Given the description of an element on the screen output the (x, y) to click on. 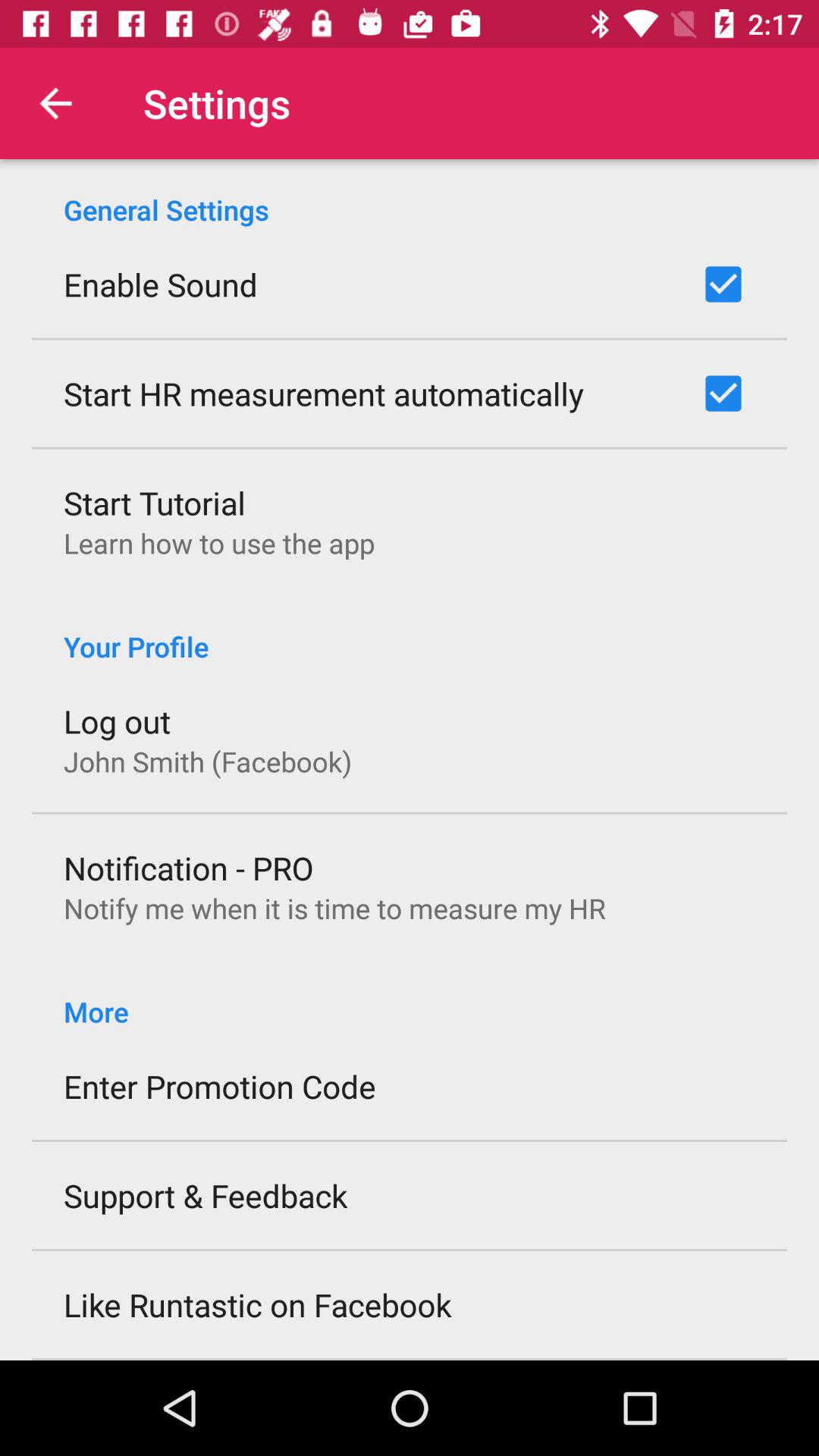
turn off the icon below start hr measurement item (154, 502)
